Given the description of an element on the screen output the (x, y) to click on. 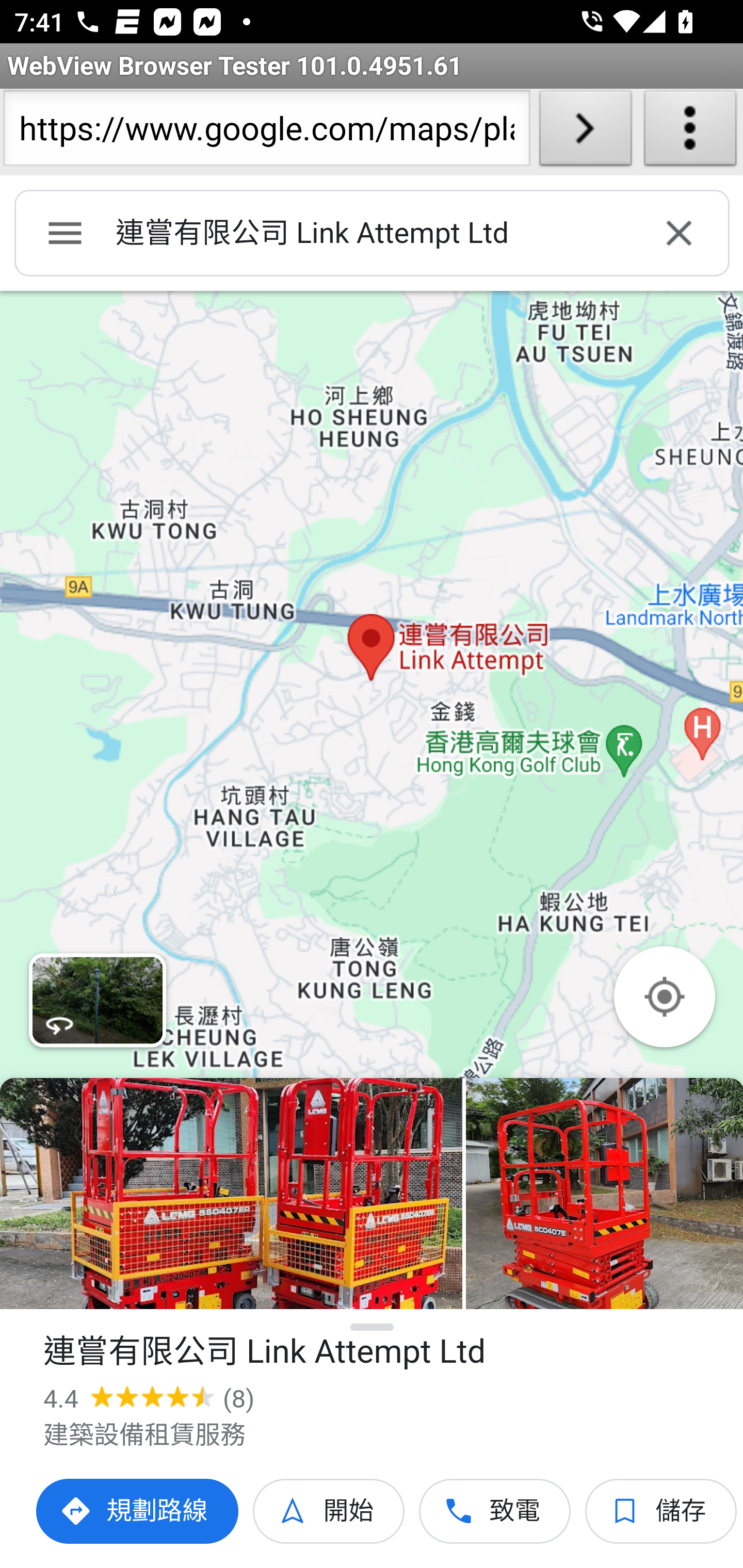
Load URL (585, 132)
About WebView (690, 132)
第 1 張相片 (共 9 張) (231, 1193)
第 2 張相片 (共 9 張) (604, 1193)
顯示詳細資料 (372, 1327)
前往連嘗有限公司 Link Attempt Ltd的路線 (137, 1511)
開始 (329, 1511)
致電「連嘗有限公司 Link Attempt Ltd」  致電 (495, 1511)
將「連嘗有限公司 Link Attempt Ltd」儲存至清單中 (661, 1511)
